Given the description of an element on the screen output the (x, y) to click on. 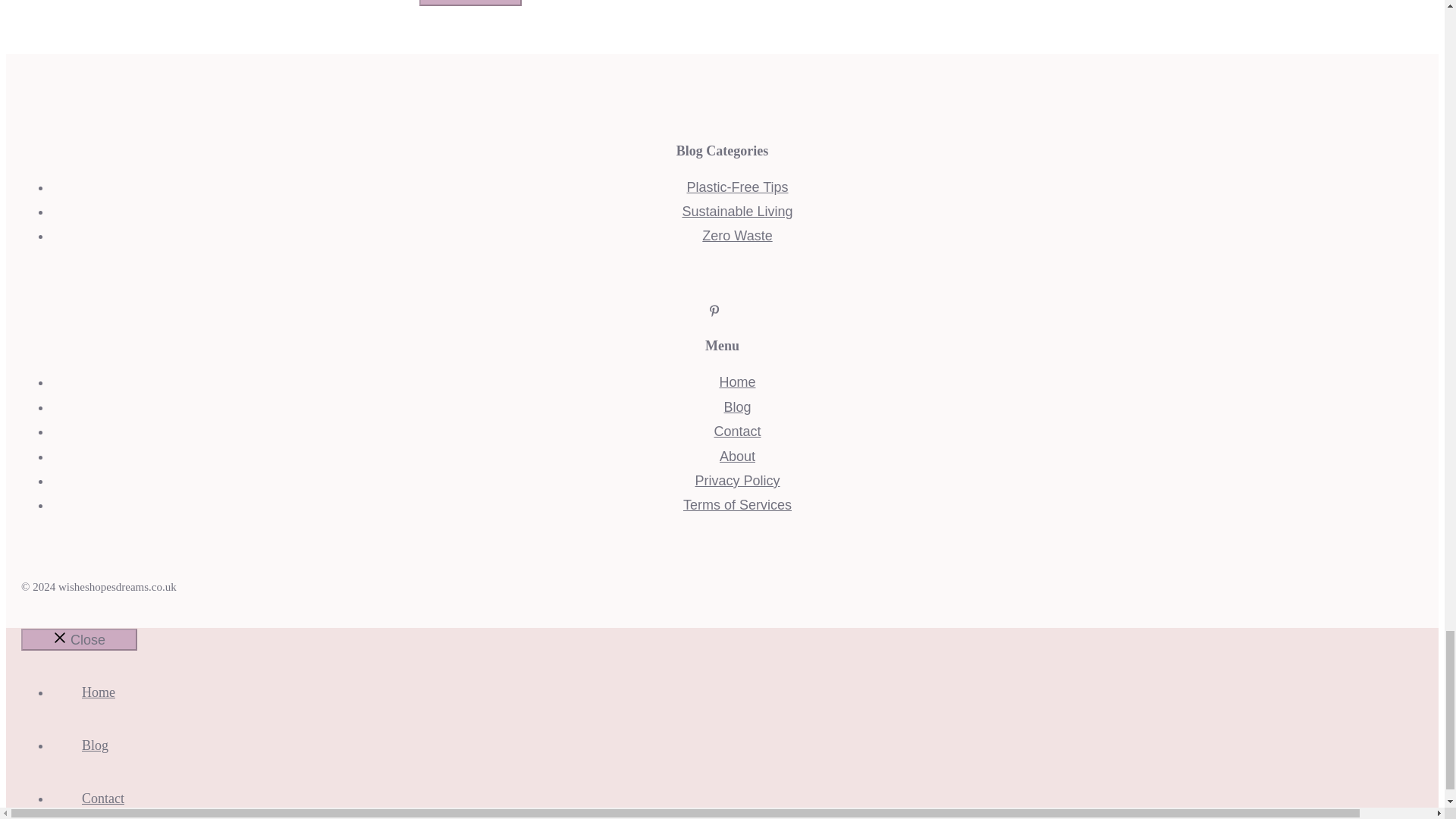
Zero Waste (736, 235)
Close (78, 639)
Post Comment (470, 2)
Blog (94, 744)
Home (97, 692)
Contact (736, 431)
Post Comment (470, 2)
Plastic-Free Tips (736, 186)
Home (737, 381)
Terms of Services (737, 504)
Sustainable Living (736, 211)
Blog (737, 406)
About (737, 456)
Privacy Policy (736, 480)
